Given the description of an element on the screen output the (x, y) to click on. 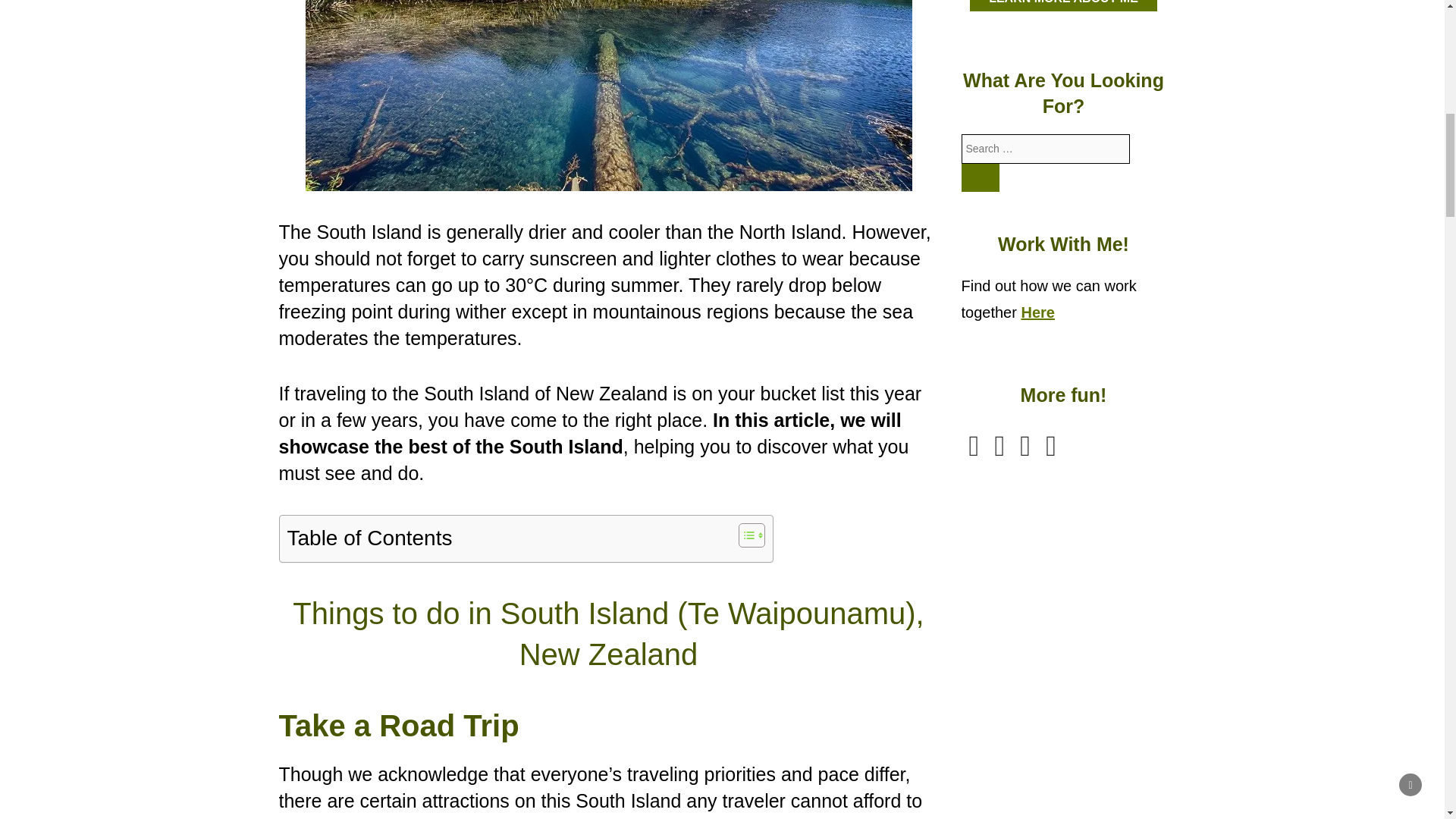
Search for: (1045, 148)
Search (980, 177)
Must See and Do in the South Island of New Zealand (607, 95)
Search (980, 177)
